Given the description of an element on the screen output the (x, y) to click on. 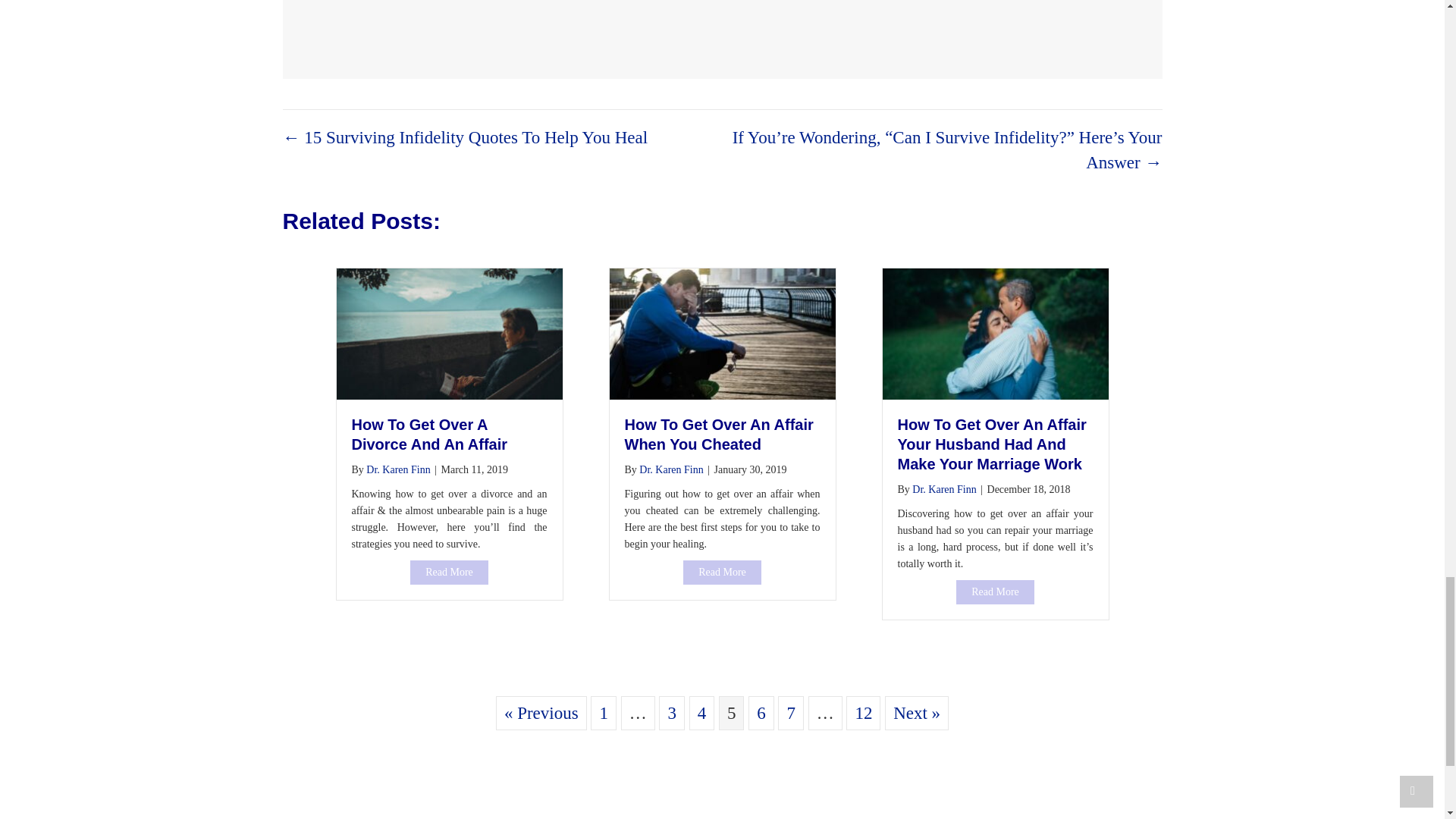
How To Get Over An Affair When You Cheated (718, 434)
How To Get Over A Divorce And An Affair (430, 434)
How To Get Over An Affair When You Cheated (721, 572)
How To Get Over A Divorce And An Affair (449, 332)
How To Get Over An Affair When You Cheated (722, 332)
How To Get Over A Divorce And An Affair (448, 572)
